Given the description of an element on the screen output the (x, y) to click on. 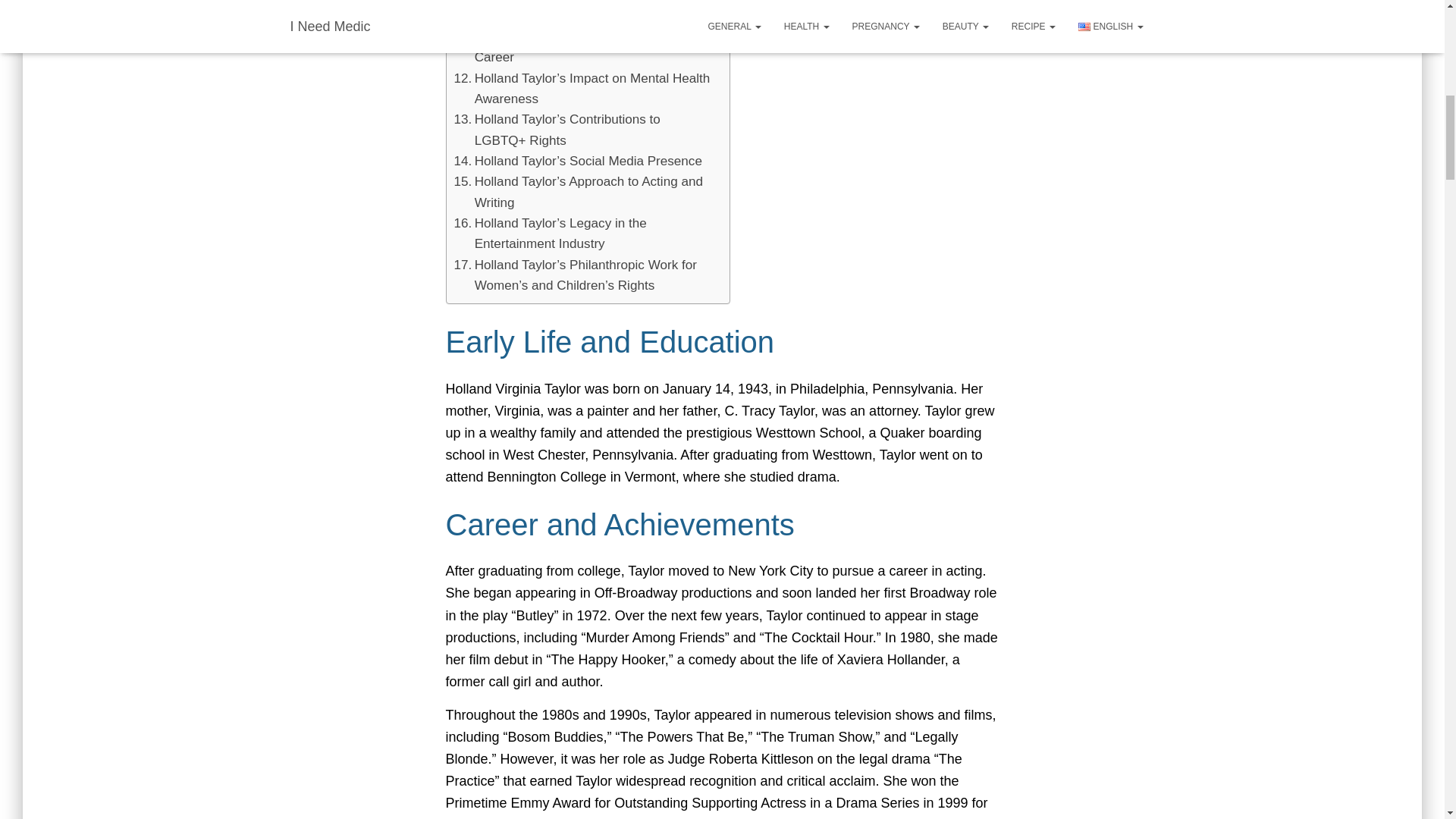
Future Projects (507, 14)
Impact and Legacy (514, 2)
